Given the description of an element on the screen output the (x, y) to click on. 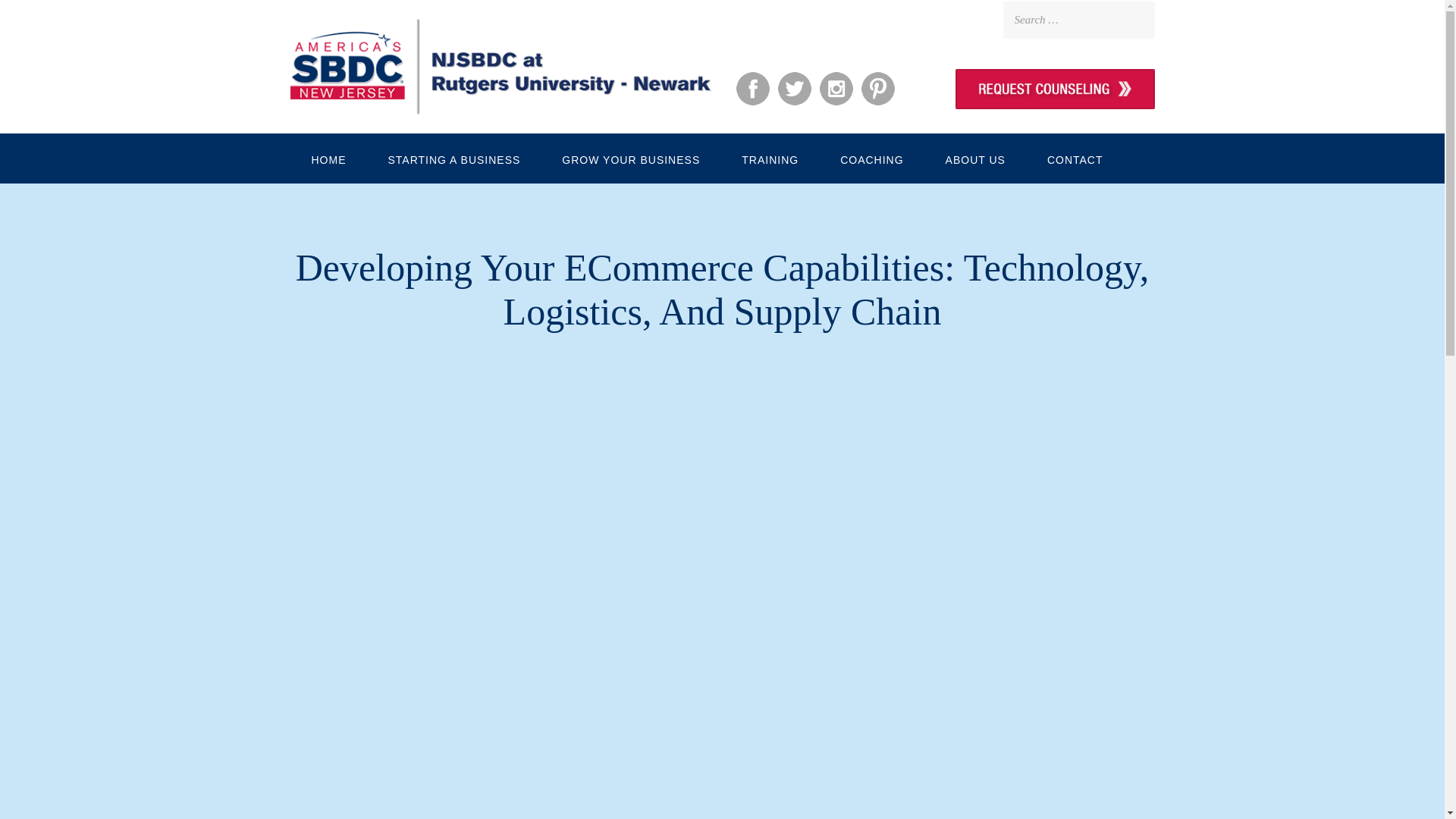
Search (41, 16)
HOME (327, 158)
GROW YOUR BUSINESS (630, 158)
STARTING A BUSINESS (453, 158)
